Given the description of an element on the screen output the (x, y) to click on. 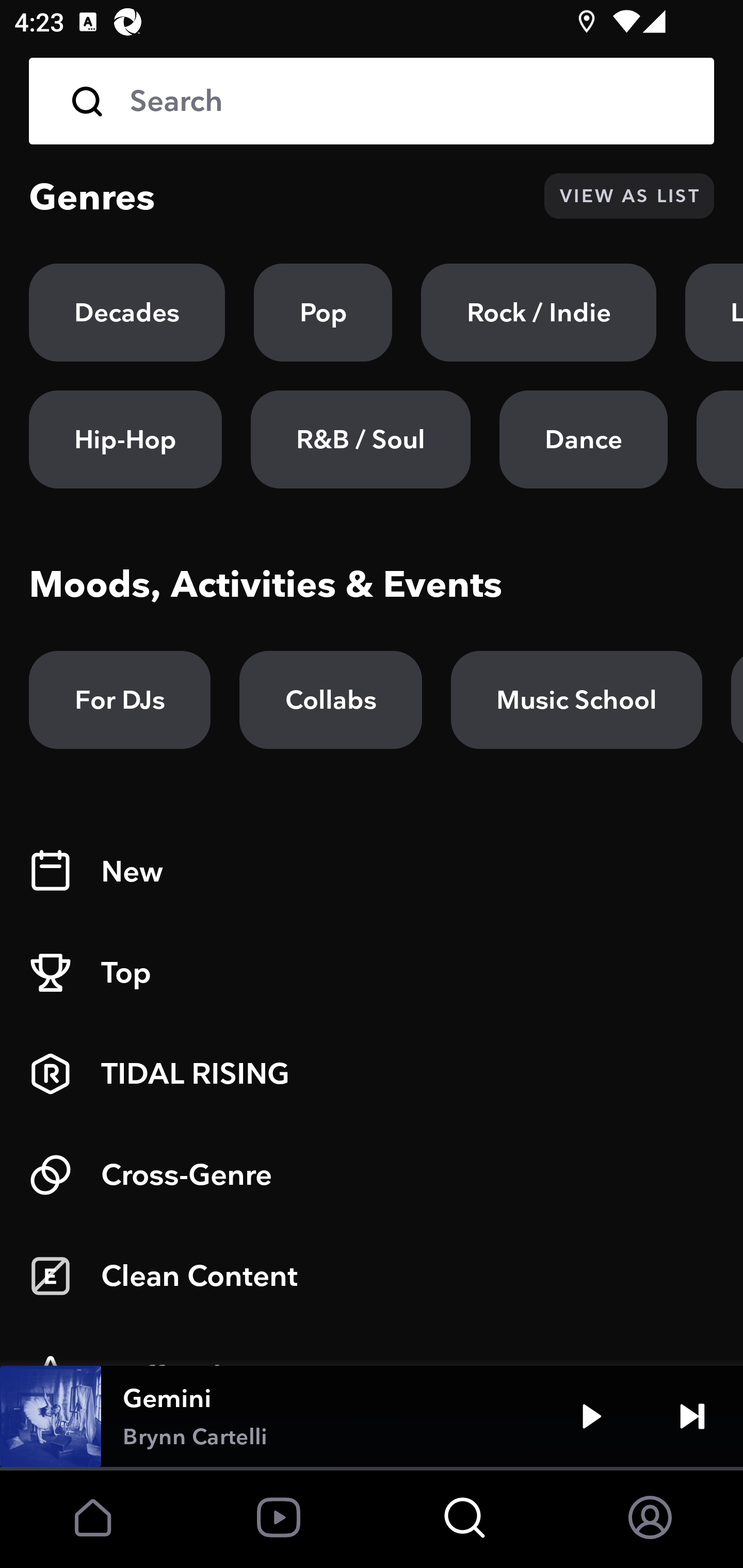
Search (371, 101)
Search (407, 100)
VIEW AS LIST (629, 195)
Decades (126, 312)
Pop (323, 312)
Rock / Indie (538, 312)
Hip-Hop (125, 439)
R&B / Soul (360, 439)
Dance (583, 439)
For DJs (119, 699)
Collabs (330, 699)
Music School (576, 699)
New (371, 871)
Top (371, 972)
TIDAL RISING (371, 1073)
Cross-Genre (371, 1175)
Clean Content (371, 1276)
Gemini Brynn Cartelli Play (371, 1416)
Play (590, 1416)
